Given the description of an element on the screen output the (x, y) to click on. 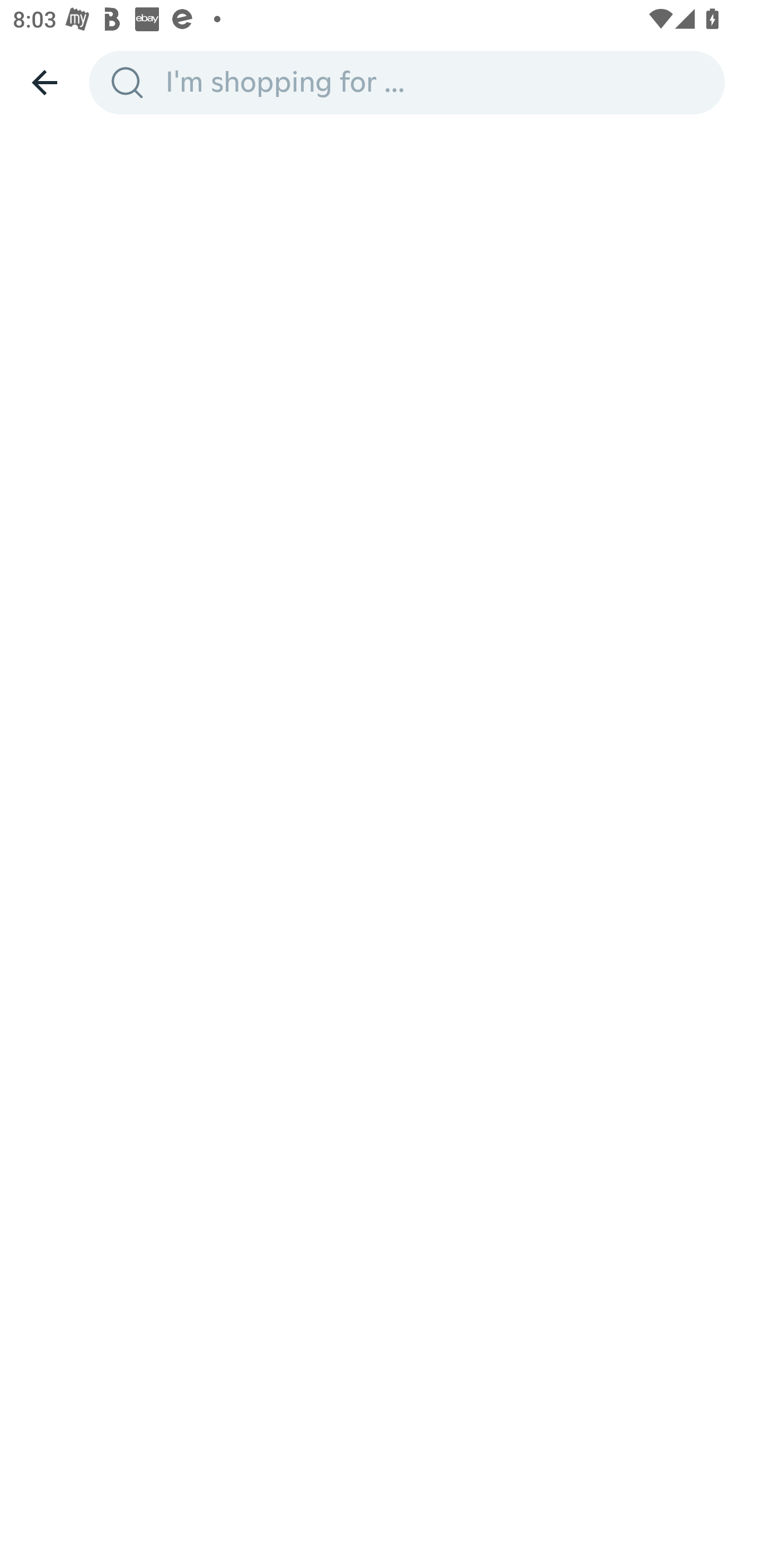
Navigate up (44, 82)
I'm shopping for ... (438, 81)
